Given the description of an element on the screen output the (x, y) to click on. 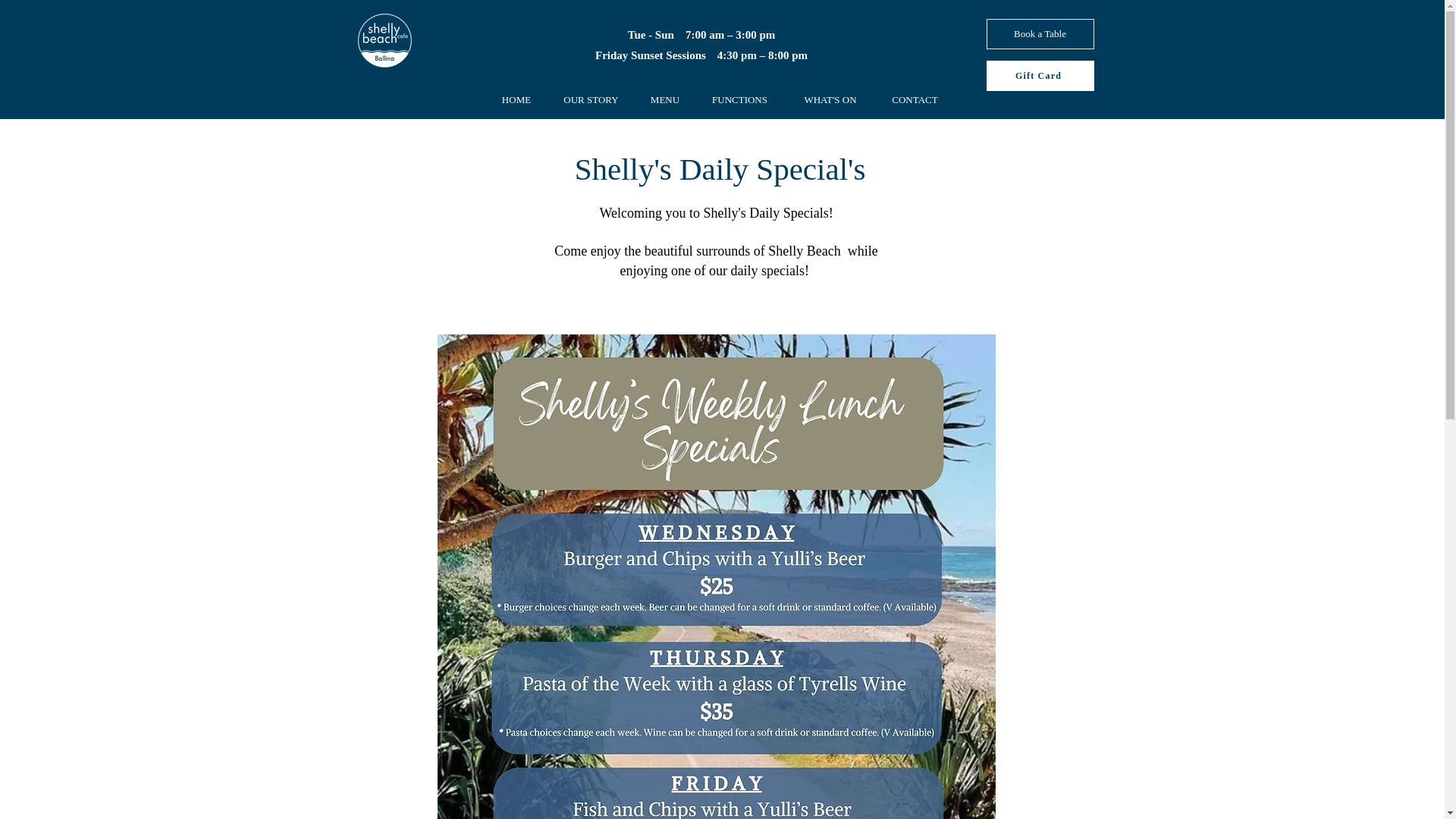
CONTACT (914, 99)
Gift Card (1039, 75)
Book a Table (1039, 33)
WHAT'S ON (831, 99)
FUNCTIONS (740, 99)
OUR STORY (590, 99)
HOME (516, 99)
MENU (664, 99)
